Given the description of an element on the screen output the (x, y) to click on. 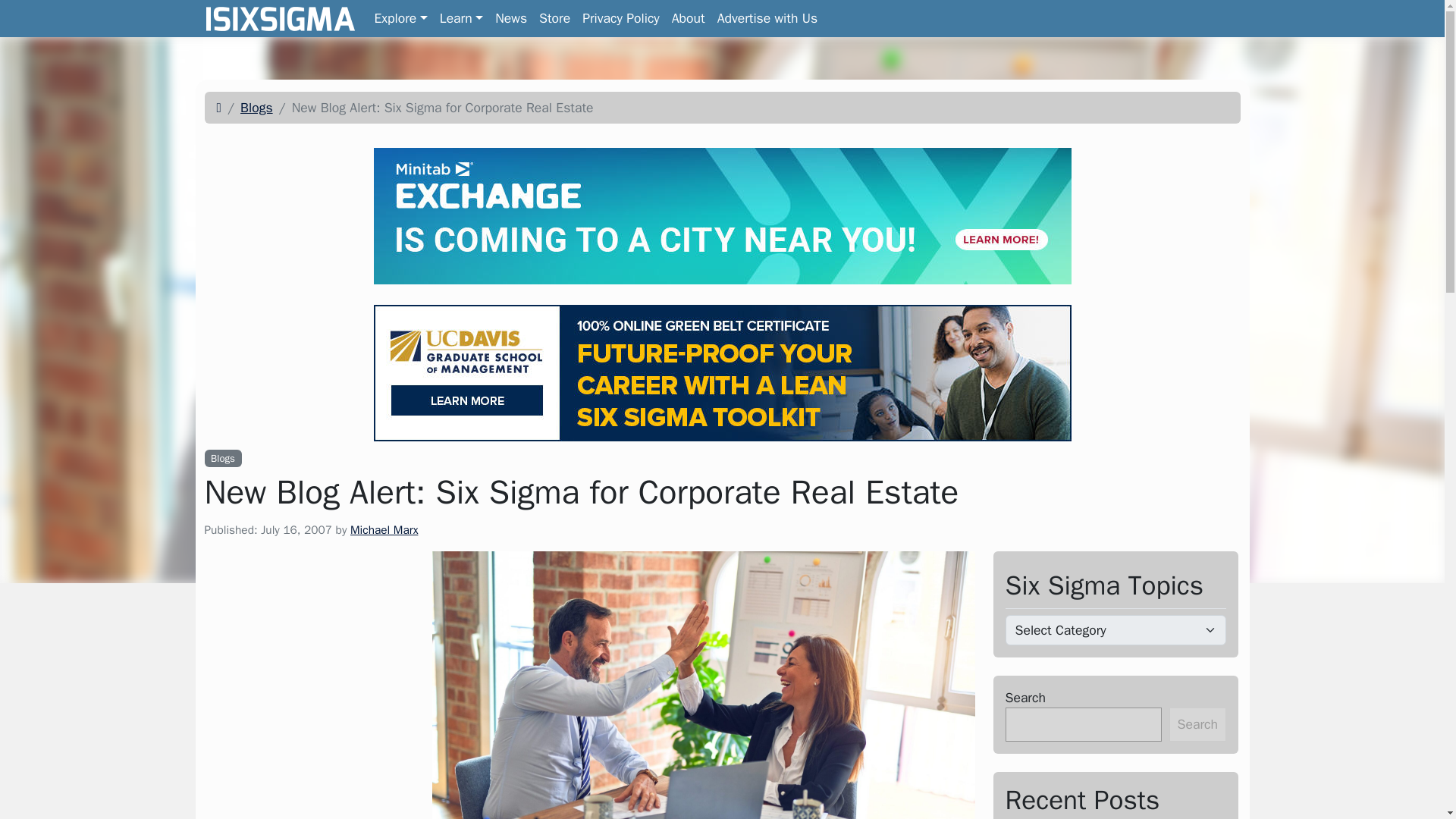
Explore (400, 18)
Posts by Michael Marx (383, 529)
Learn (722, 107)
